Given the description of an element on the screen output the (x, y) to click on. 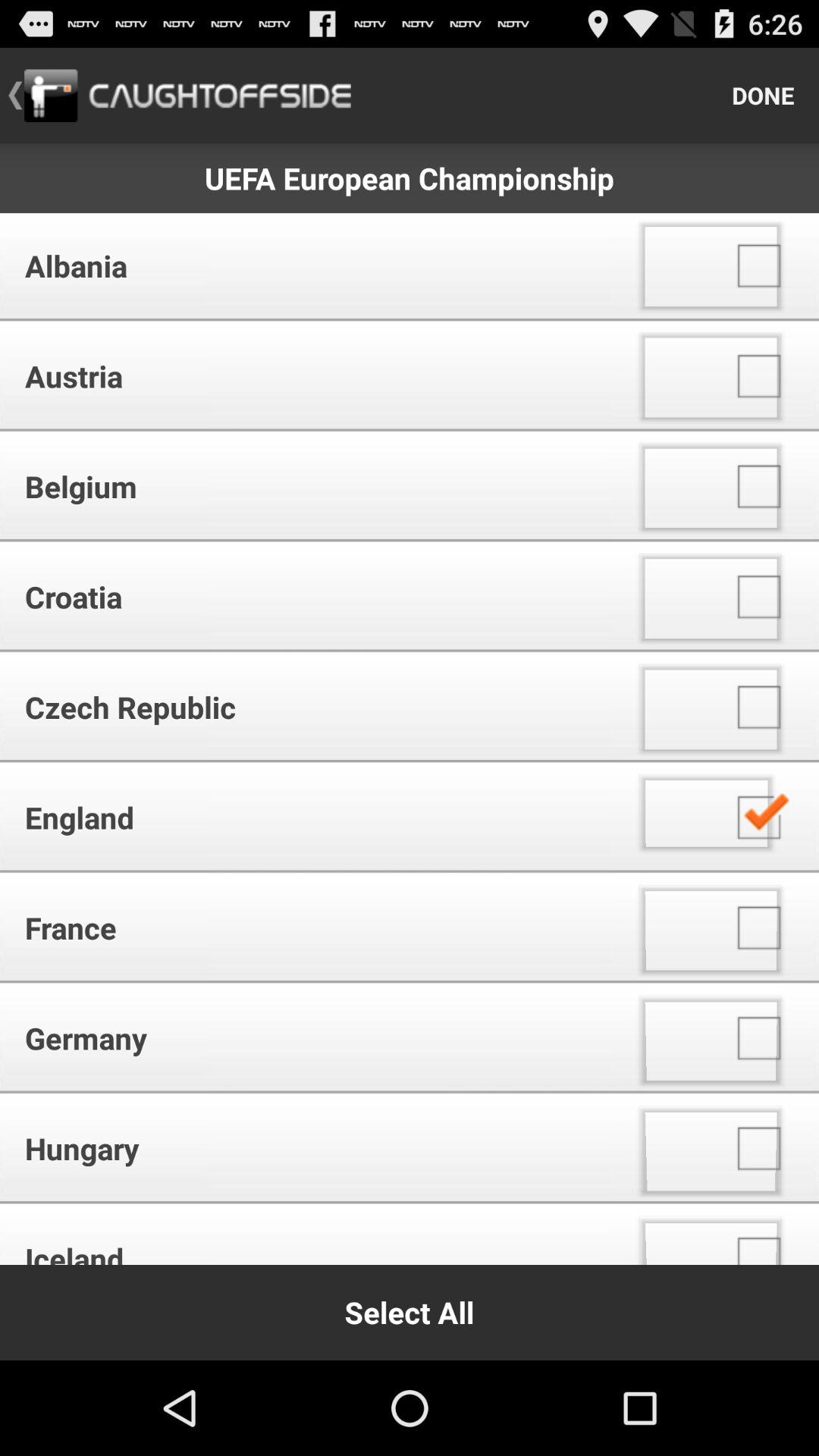
scroll until the austria item (311, 375)
